Given the description of an element on the screen output the (x, y) to click on. 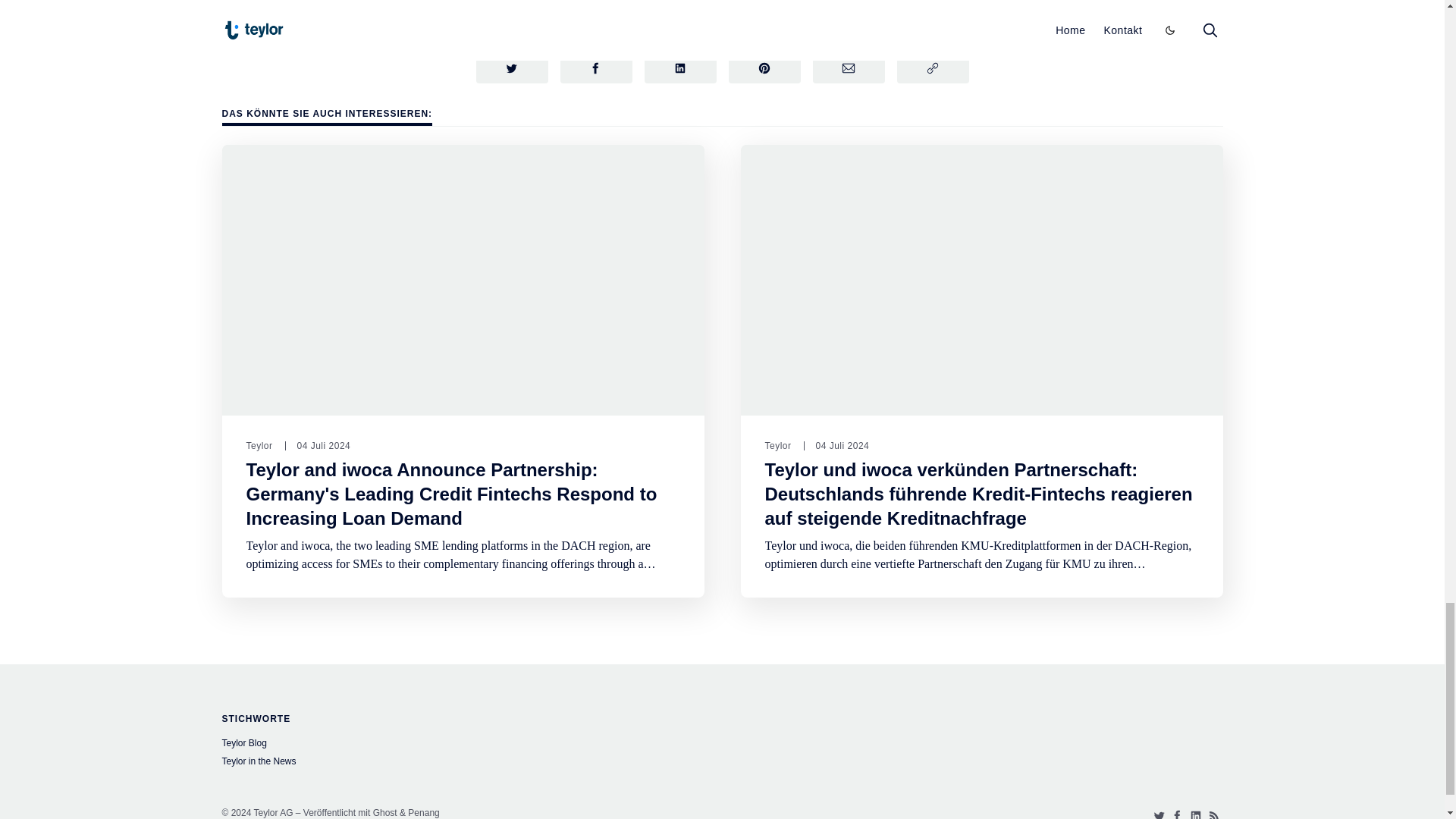
Teylor in the News (376, 762)
Auf LinkedIn teilen (680, 67)
Auf Pinterest teilen (763, 67)
Per E-Mail teilen (848, 67)
Teylor (259, 445)
Teylor Blog (376, 744)
Auf Facebook teilen (595, 67)
Link kopieren (932, 67)
Teylor (777, 445)
Auf Twitter teilen (512, 67)
Ghost (384, 812)
Teylor in the News (537, 13)
Penang (423, 812)
